Given the description of an element on the screen output the (x, y) to click on. 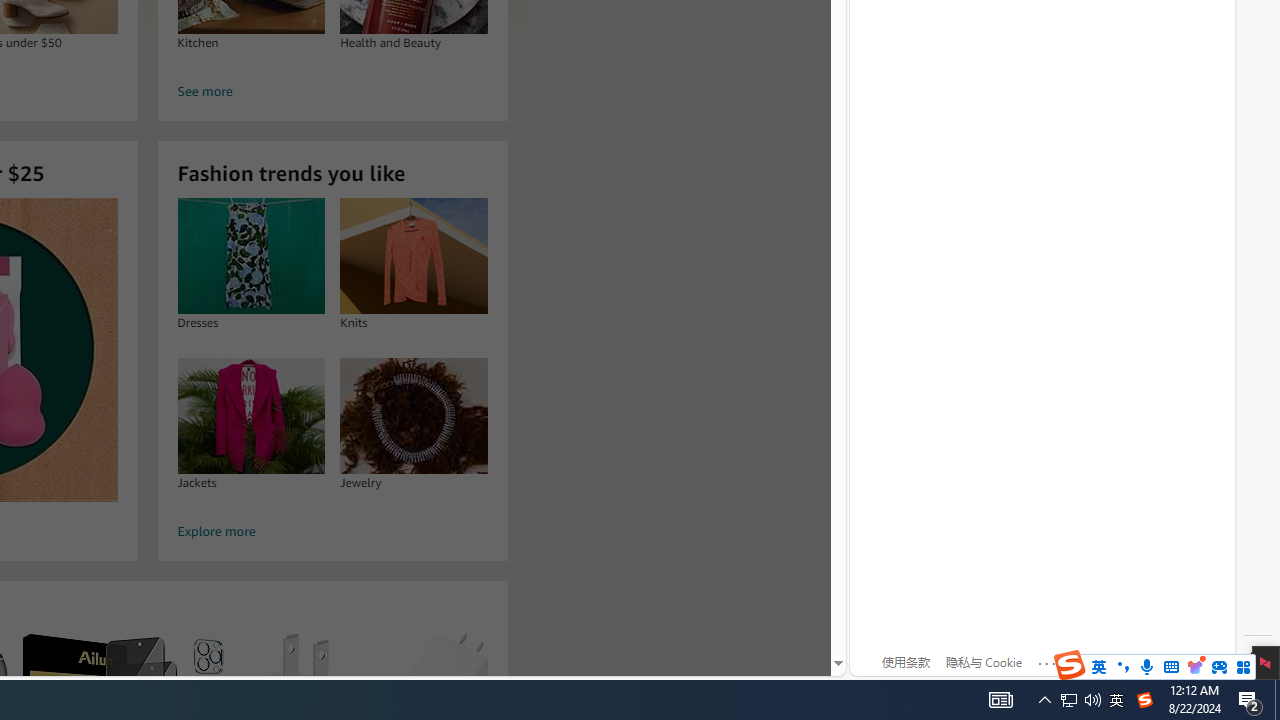
Knits (413, 256)
Jackets (250, 415)
Jewelry (413, 415)
Jackets (250, 415)
Explore more (331, 532)
Dresses (250, 256)
Knits (413, 256)
Jewelry (413, 415)
Dresses (250, 256)
